Given the description of an element on the screen output the (x, y) to click on. 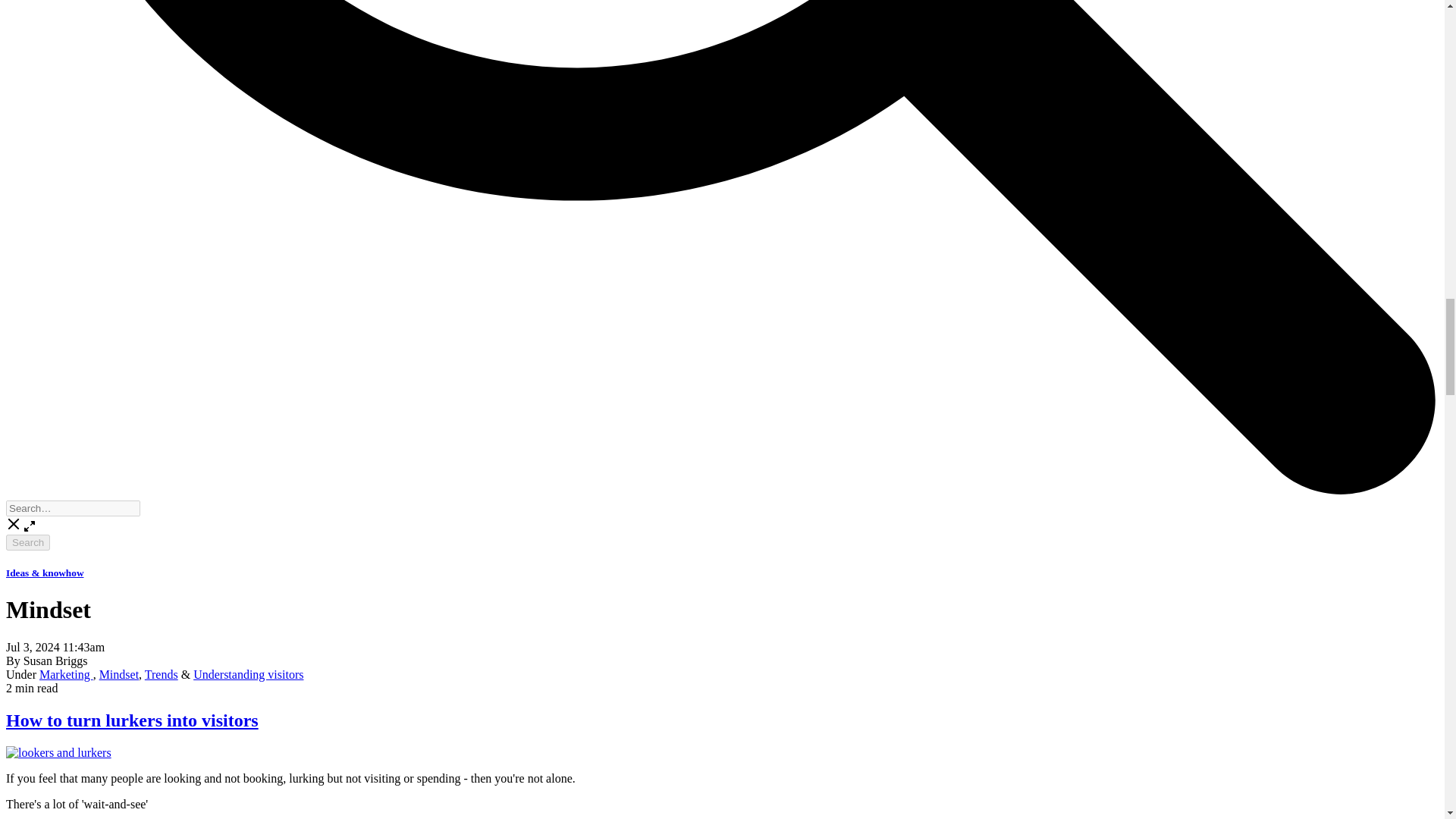
Search (27, 542)
Search (27, 542)
Trends (160, 674)
Mindset (118, 674)
Marketing (66, 674)
Understanding visitors (247, 674)
